Given the description of an element on the screen output the (x, y) to click on. 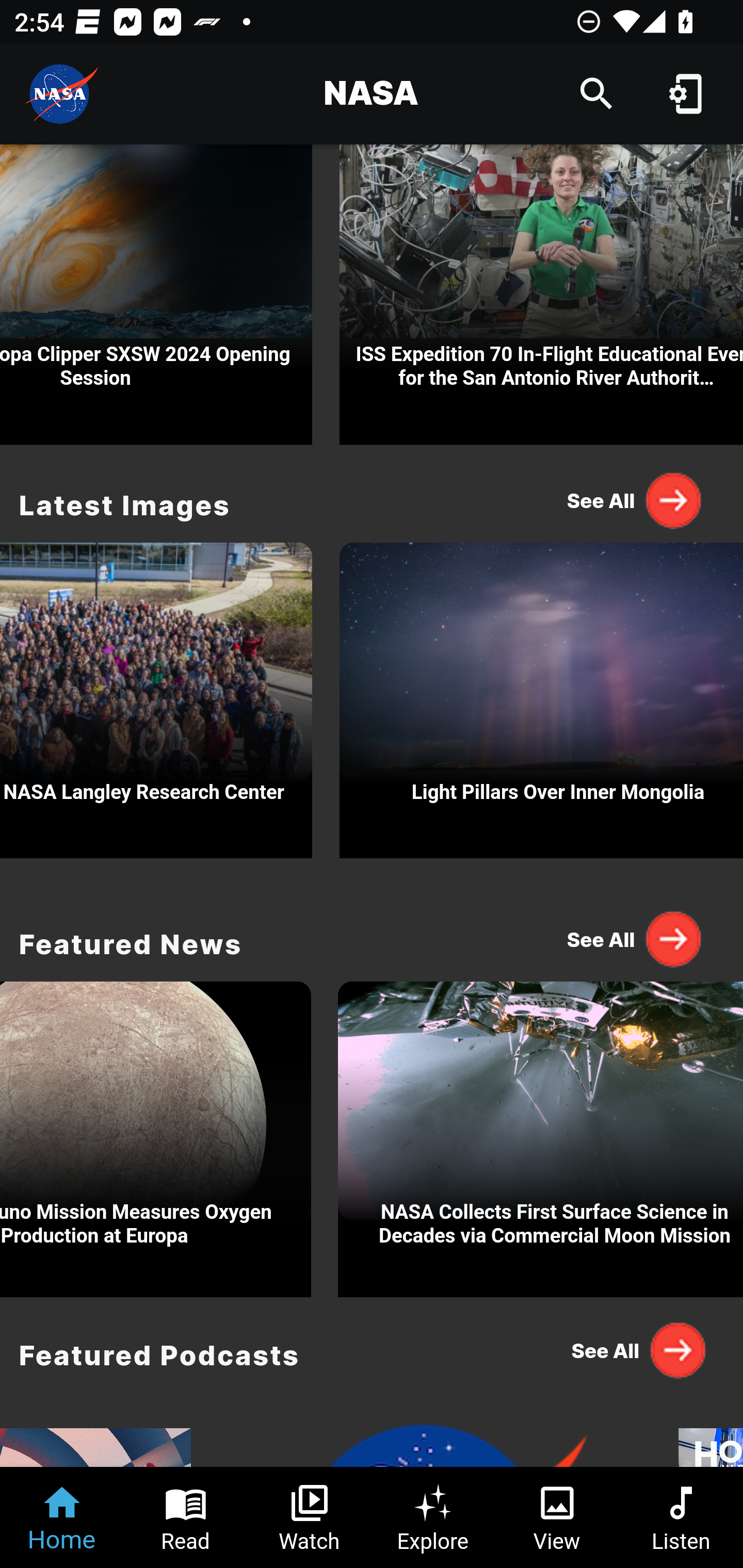
NASA's Europa Clipper SXSW 2024 Opening Session (156, 294)
See All (634, 500)
Women of NASA Langley Research Center (156, 695)
Light Pillars Over Inner Mongolia (541, 695)
See All (634, 938)
See All (634, 1349)
Home
Tab 1 of 6 (62, 1517)
Read
Tab 2 of 6 (185, 1517)
Watch
Tab 3 of 6 (309, 1517)
Explore
Tab 4 of 6 (433, 1517)
View
Tab 5 of 6 (556, 1517)
Listen
Tab 6 of 6 (680, 1517)
